Given the description of an element on the screen output the (x, y) to click on. 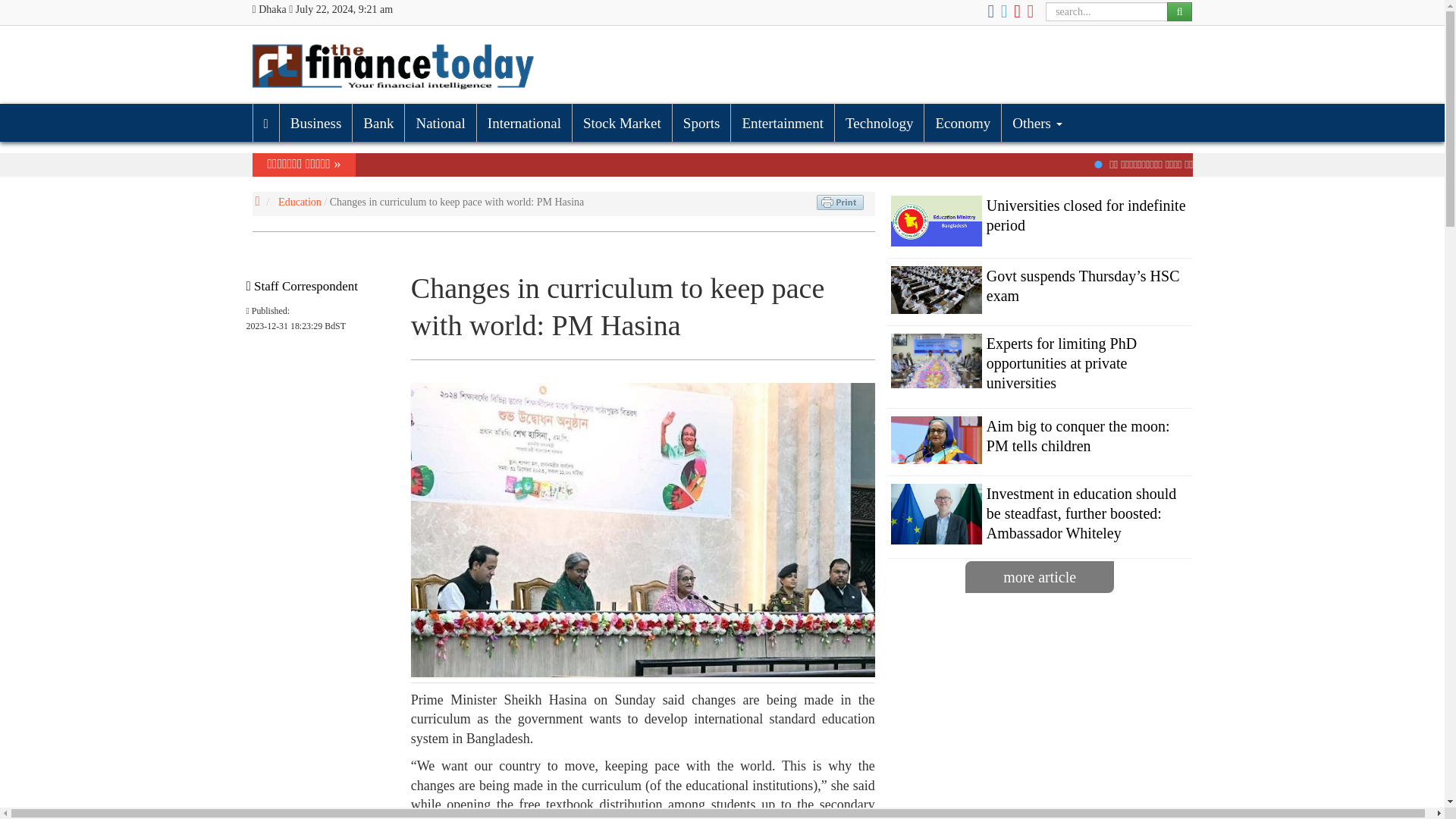
Others (1036, 122)
Economy (962, 122)
Entertainment (782, 122)
International (524, 122)
National (440, 122)
Technology (878, 122)
Business (315, 122)
Bank (378, 122)
Stock Market (621, 122)
Print (839, 202)
Sports (700, 122)
